Given the description of an element on the screen output the (x, y) to click on. 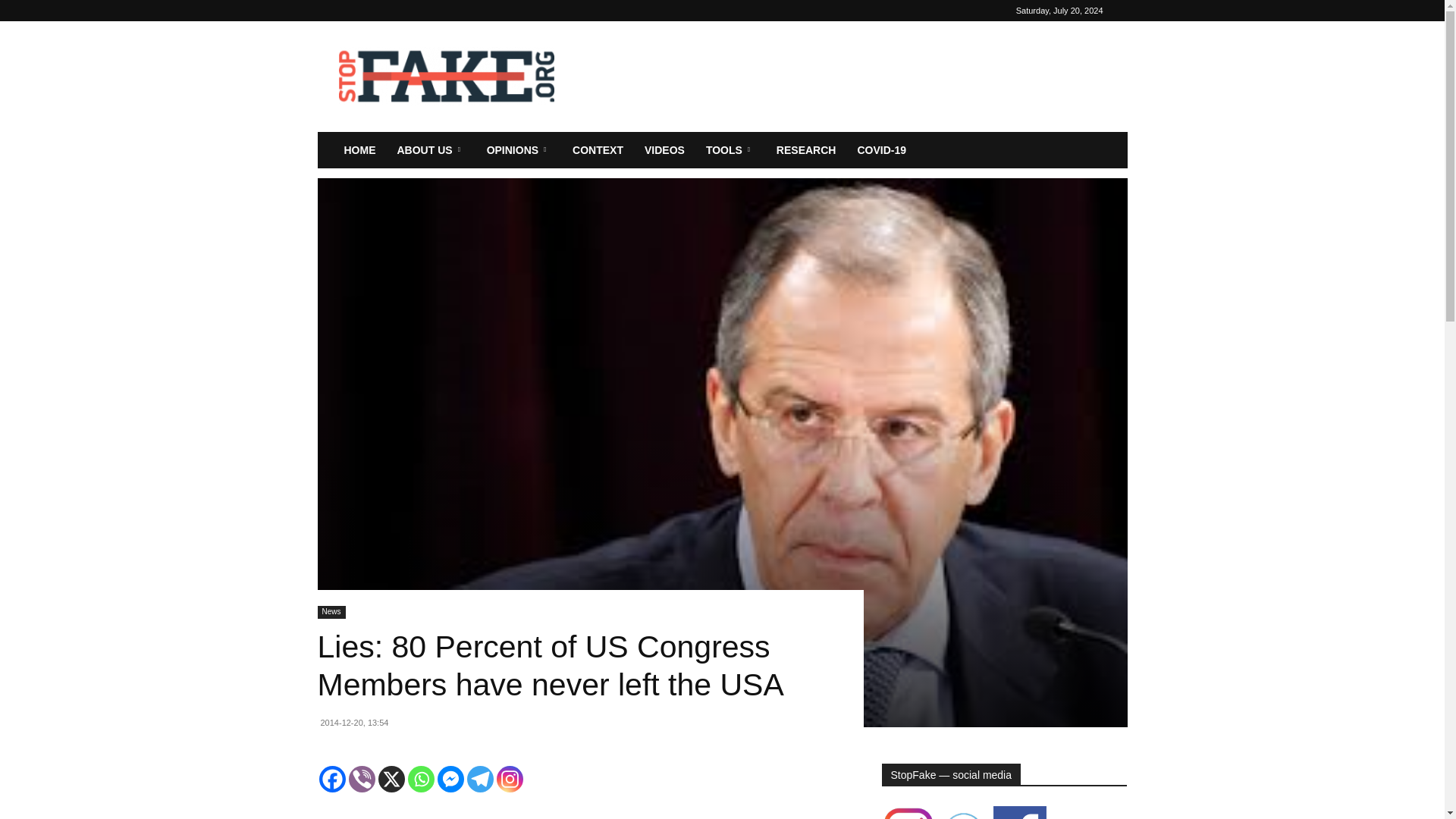
Viber (362, 778)
COVID-19 (881, 149)
X (390, 778)
OPINIONS (519, 149)
Facebook (331, 778)
Instagram (509, 778)
TOOLS (730, 149)
HOME (360, 149)
VIDEOS (664, 149)
CONTEXT (597, 149)
Whatsapp (420, 778)
Telegram (480, 778)
RESEARCH (806, 149)
ABOUT US (431, 149)
News (331, 612)
